Given the description of an element on the screen output the (x, y) to click on. 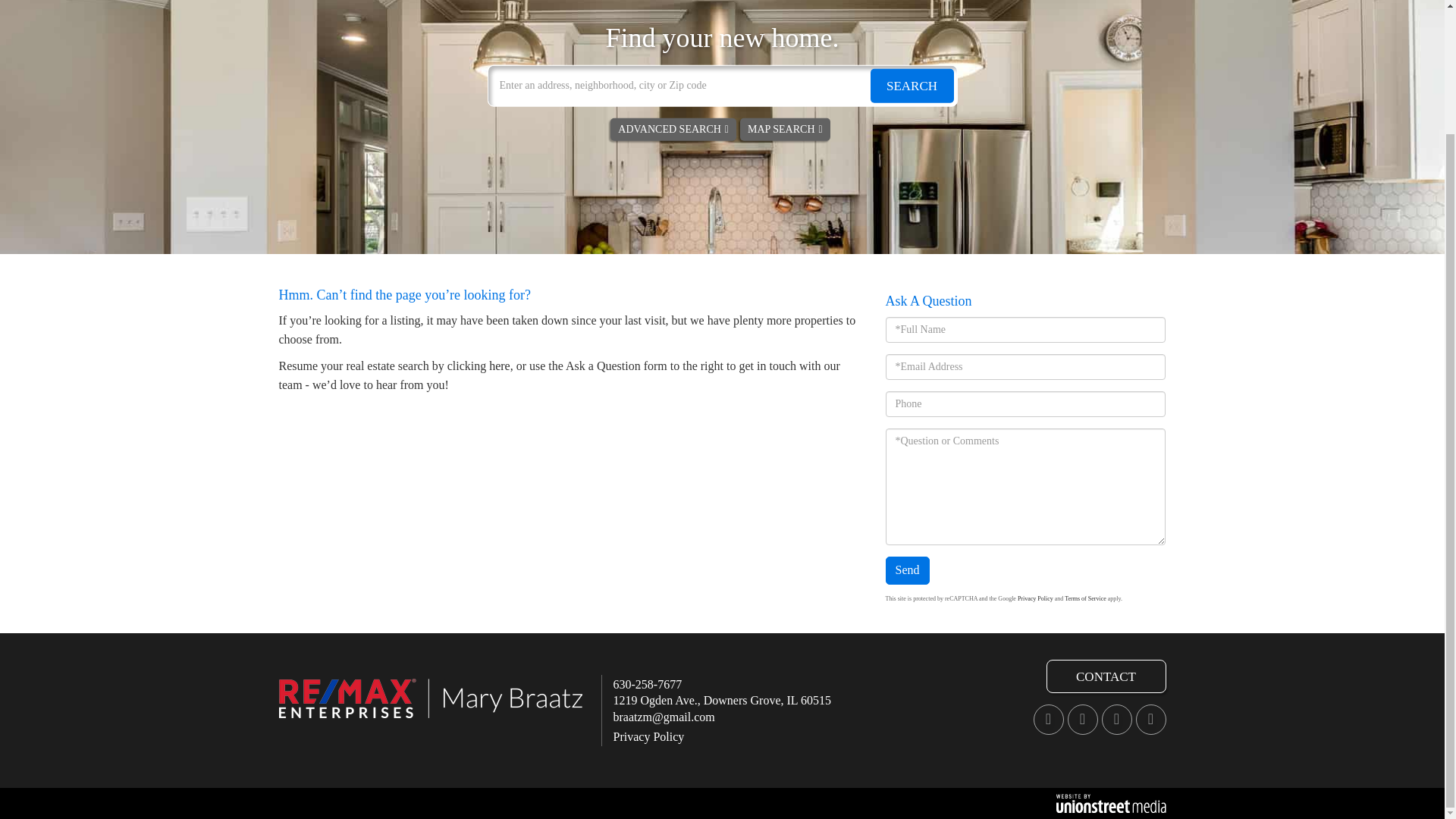
here (500, 365)
ADVANCED SEARCH (673, 128)
Twitter (1115, 719)
Linkedin (1082, 719)
Facebook (1047, 719)
Pinterest (1150, 719)
SEARCH (911, 84)
MAP SEARCH (784, 128)
